Given the description of an element on the screen output the (x, y) to click on. 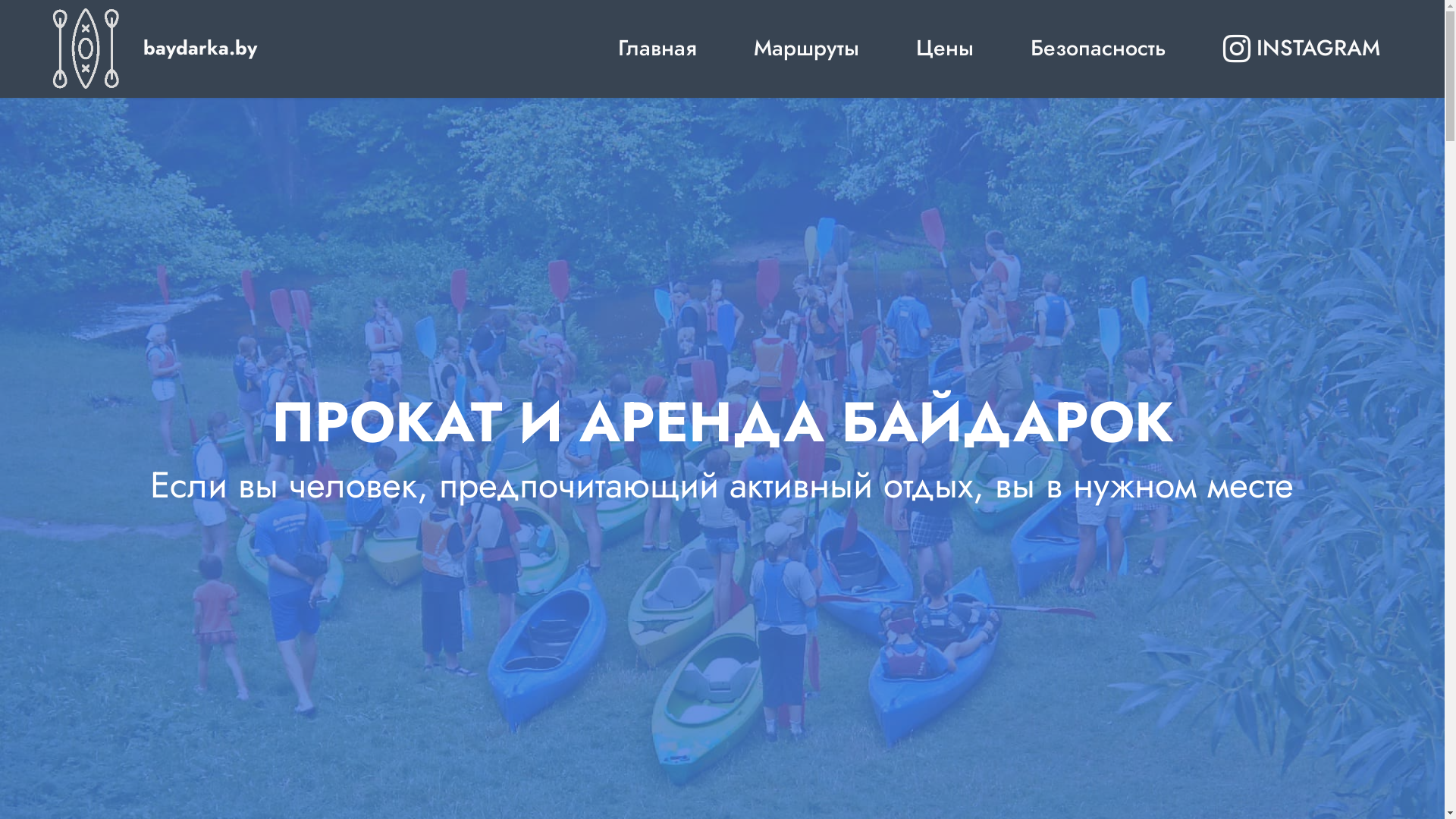
INSTAGRAM Element type: text (1301, 47)
baydarka.by Element type: text (200, 48)
